Given the description of an element on the screen output the (x, y) to click on. 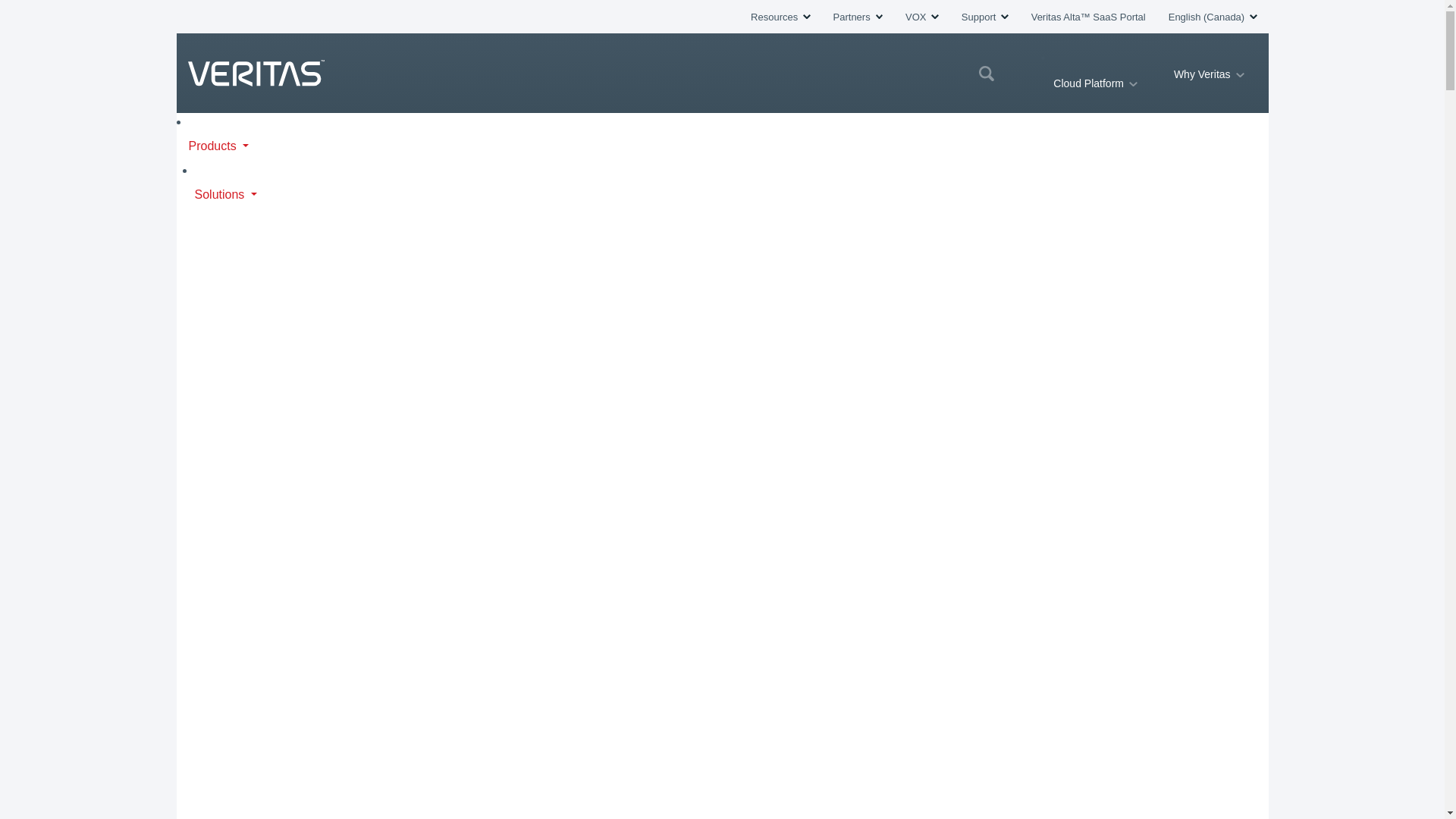
VOX (922, 16)
Partners (857, 16)
Resources (780, 16)
Support (984, 16)
